Given the description of an element on the screen output the (x, y) to click on. 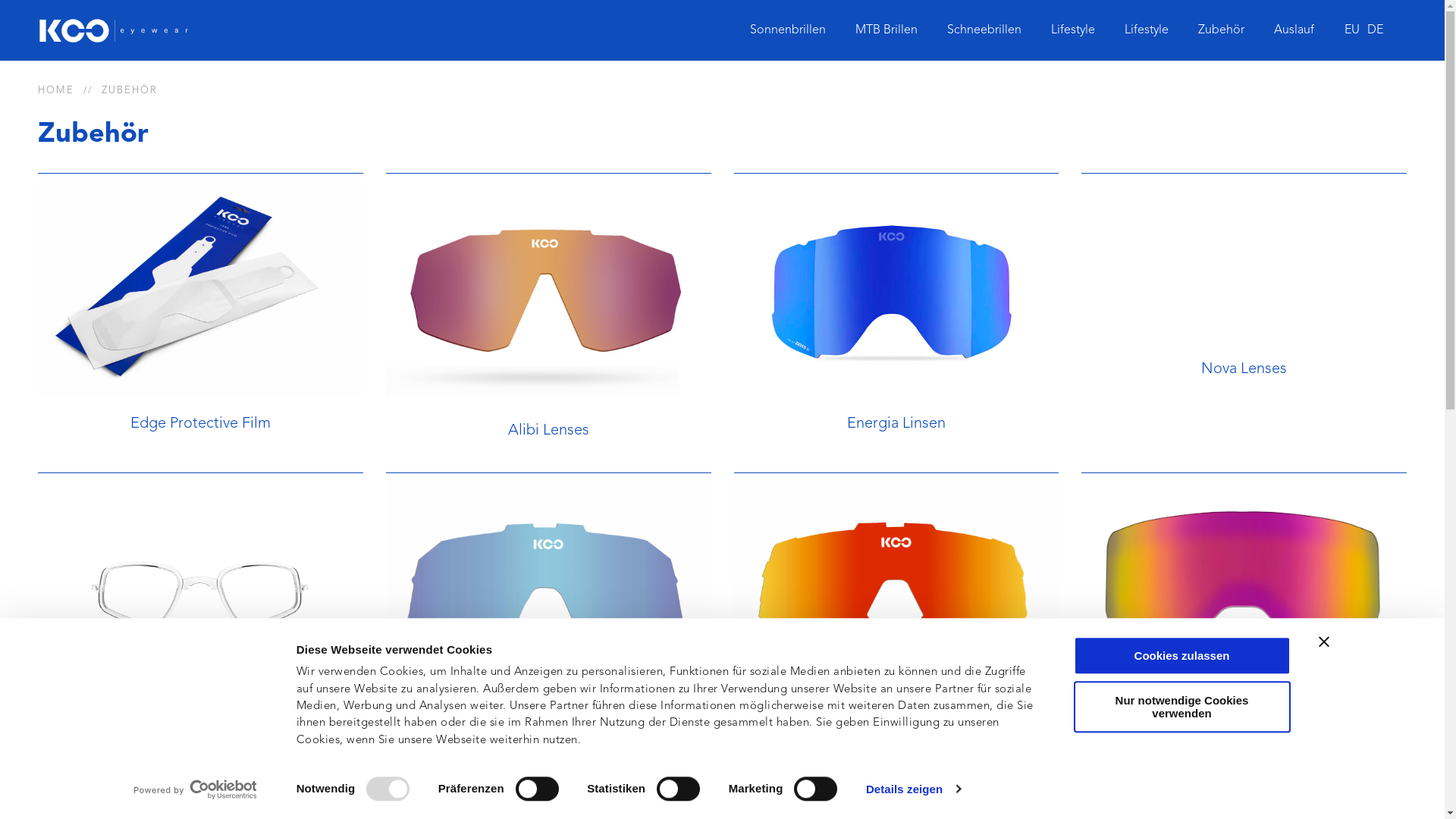
EU Element type: text (1351, 30)
Nur notwendige Cookies verwenden Element type: text (1181, 706)
Schneebrillen Element type: text (984, 30)
MTB Brillen Element type: text (886, 30)
KOO Element type: hover (113, 29)
Cookies zulassen Element type: text (1181, 655)
Lifestyle Element type: text (1073, 30)
Details zeigen Element type: text (913, 789)
Auslauf Element type: text (1294, 30)
Lifestyle Element type: text (1146, 30)
Sonnenbrillen Element type: text (787, 30)
HOME Element type: text (55, 90)
